Given the description of an element on the screen output the (x, y) to click on. 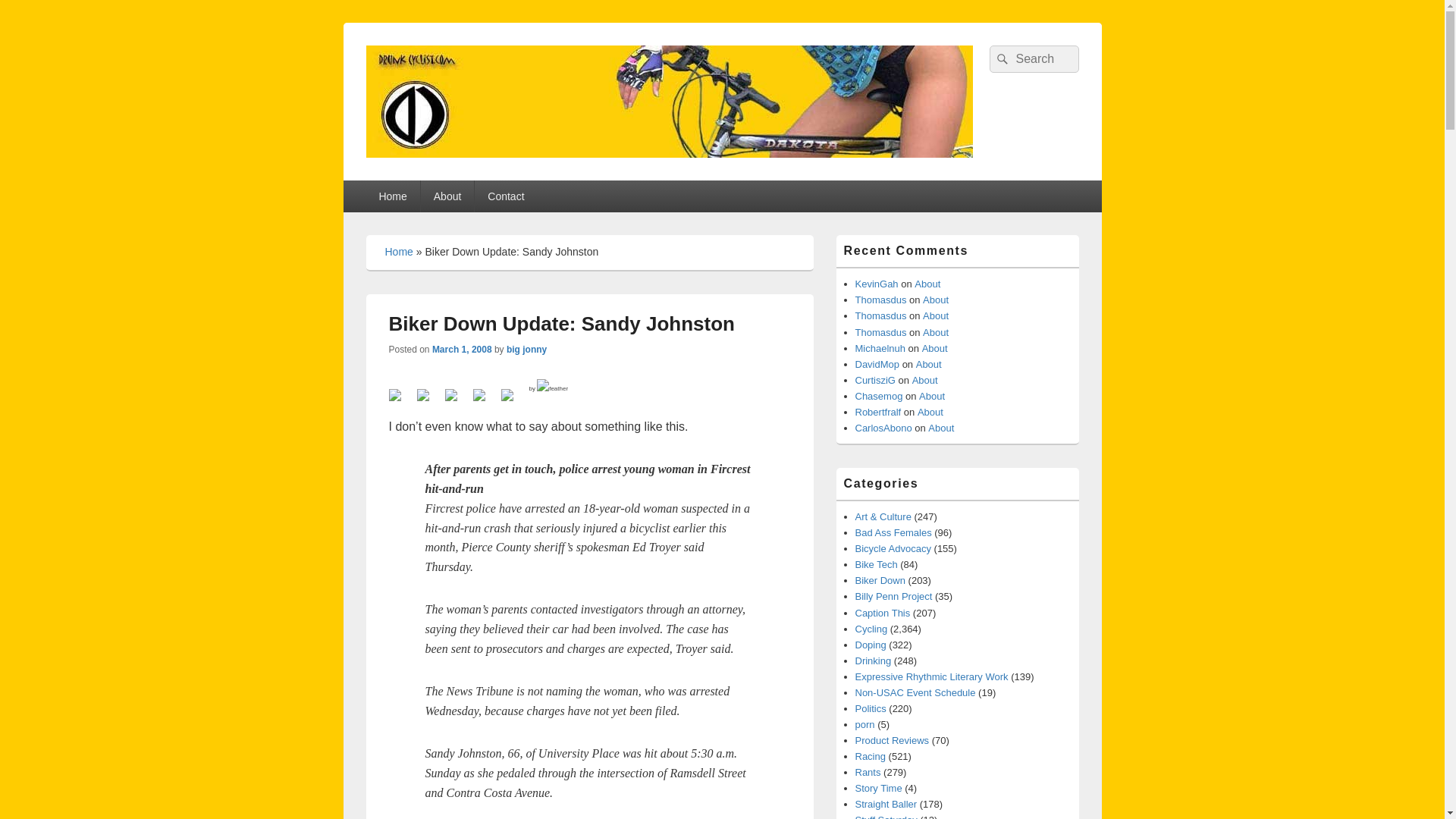
Contact (505, 196)
Share on Facebook (400, 401)
by (549, 388)
Search for: (1033, 58)
Share on Reddit (456, 401)
WordPress Social Media Feather (549, 388)
Home (399, 251)
View all posts by big jonny (526, 348)
About (447, 196)
Share on Twitter (428, 401)
Pin it with Pinterest (485, 401)
Drunkcyclist.com (478, 174)
8:46 pm (462, 348)
Share by email (512, 401)
March 1, 2008 (462, 348)
